Given the description of an element on the screen output the (x, y) to click on. 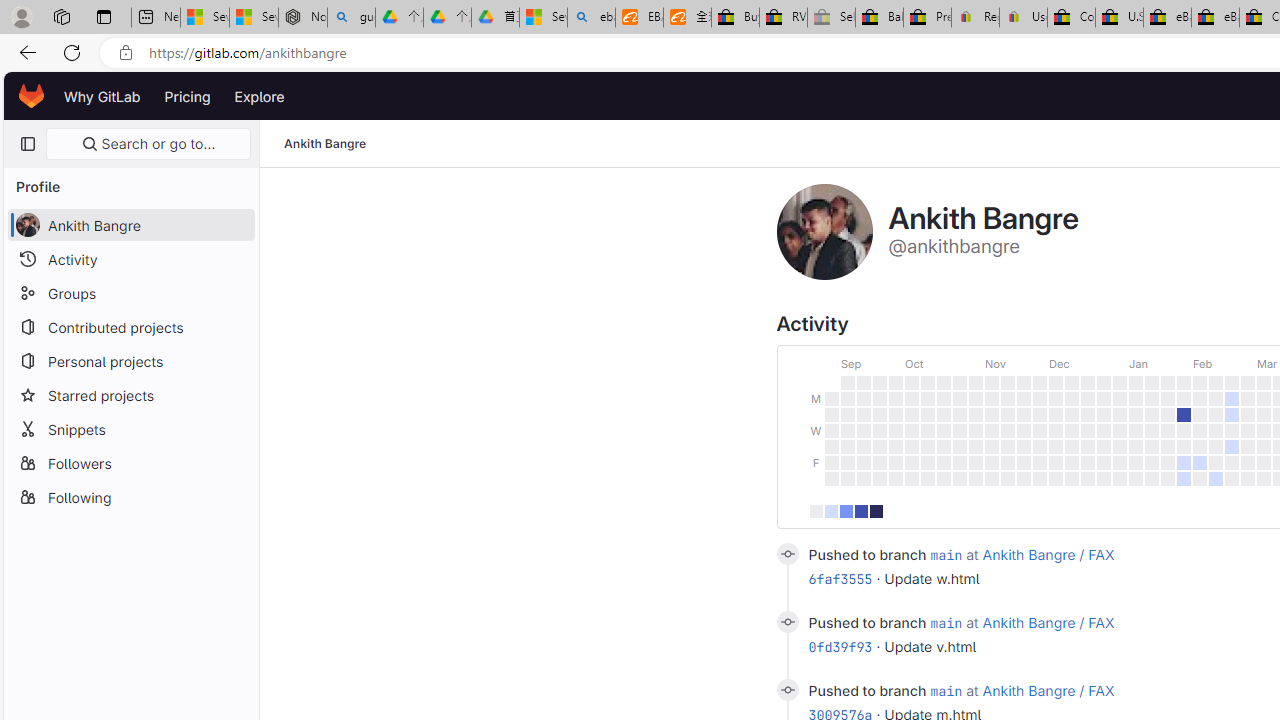
0fd39f93 (839, 646)
Activity (130, 259)
main (946, 690)
